Given the description of an element on the screen output the (x, y) to click on. 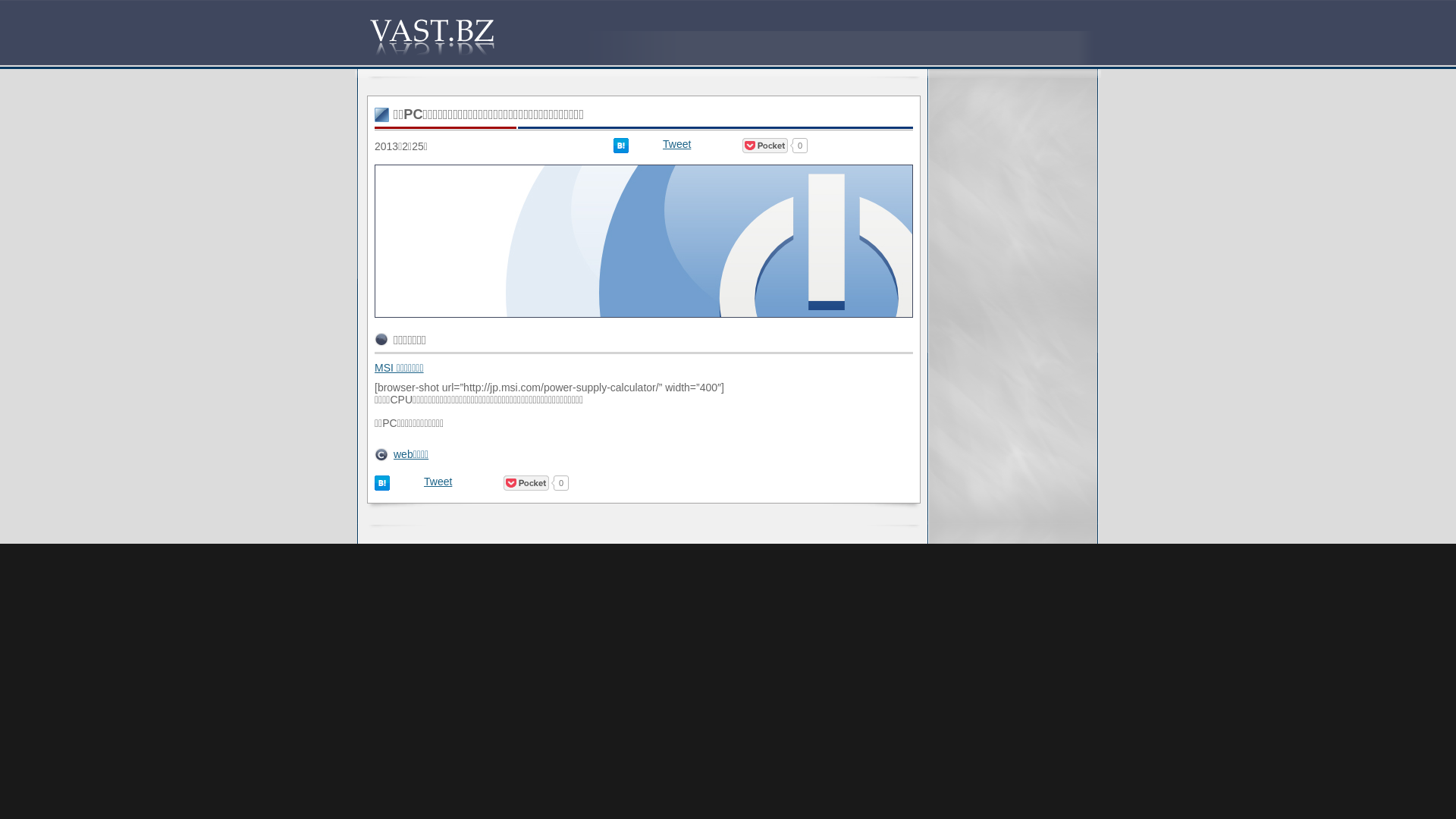
Tweet Element type: text (437, 481)
Tweet Element type: text (676, 144)
